Given the description of an element on the screen output the (x, y) to click on. 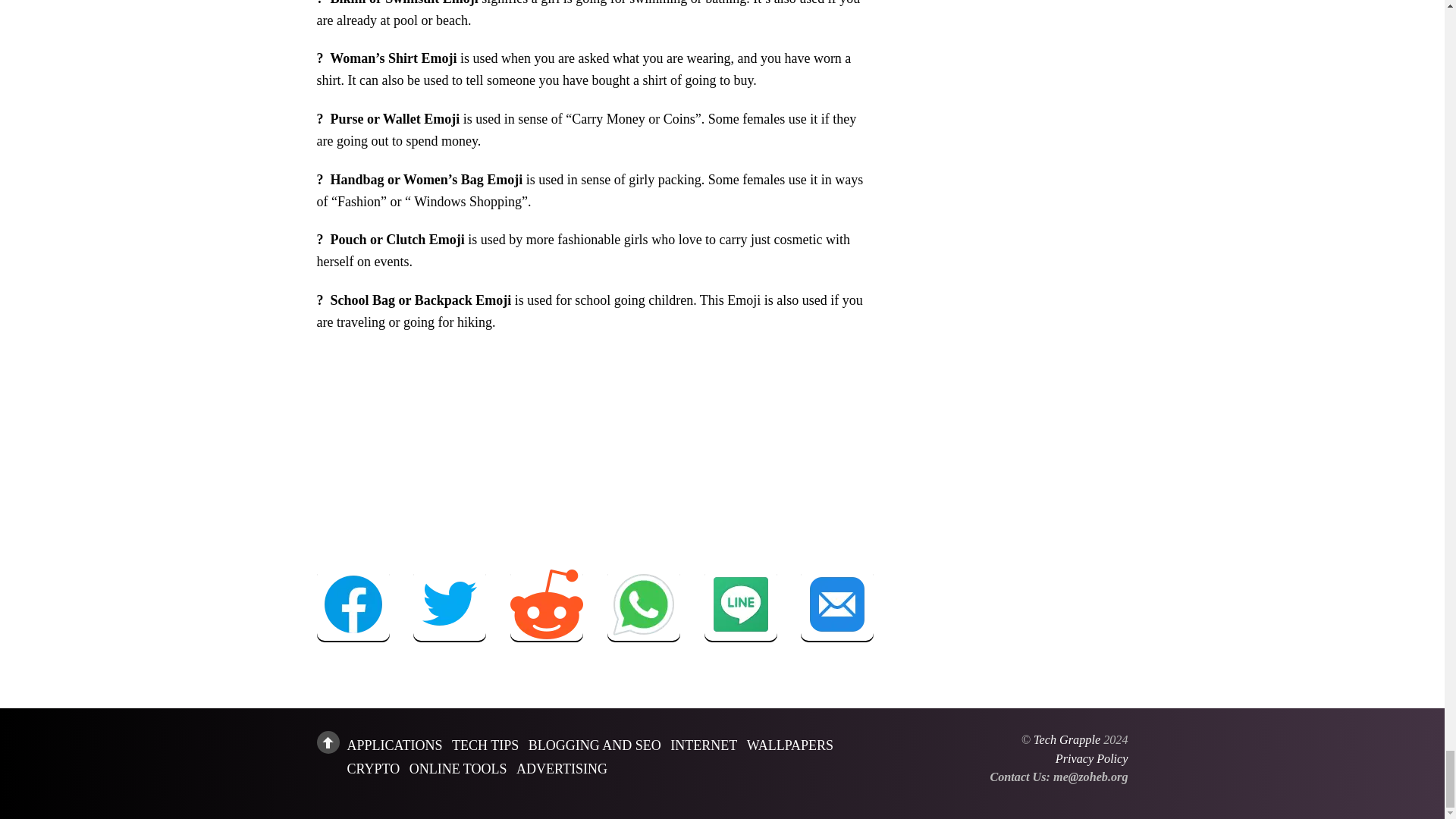
APPLICATIONS (394, 744)
WALLPAPERS (789, 744)
Tech Grapple (1066, 739)
TECH TIPS (484, 744)
BLOGGING AND SEO (594, 744)
ONLINE TOOLS (457, 767)
CRYPTO (373, 767)
ADVERTISING (561, 767)
INTERNET (702, 744)
Privacy Policy (1091, 758)
